Given the description of an element on the screen output the (x, y) to click on. 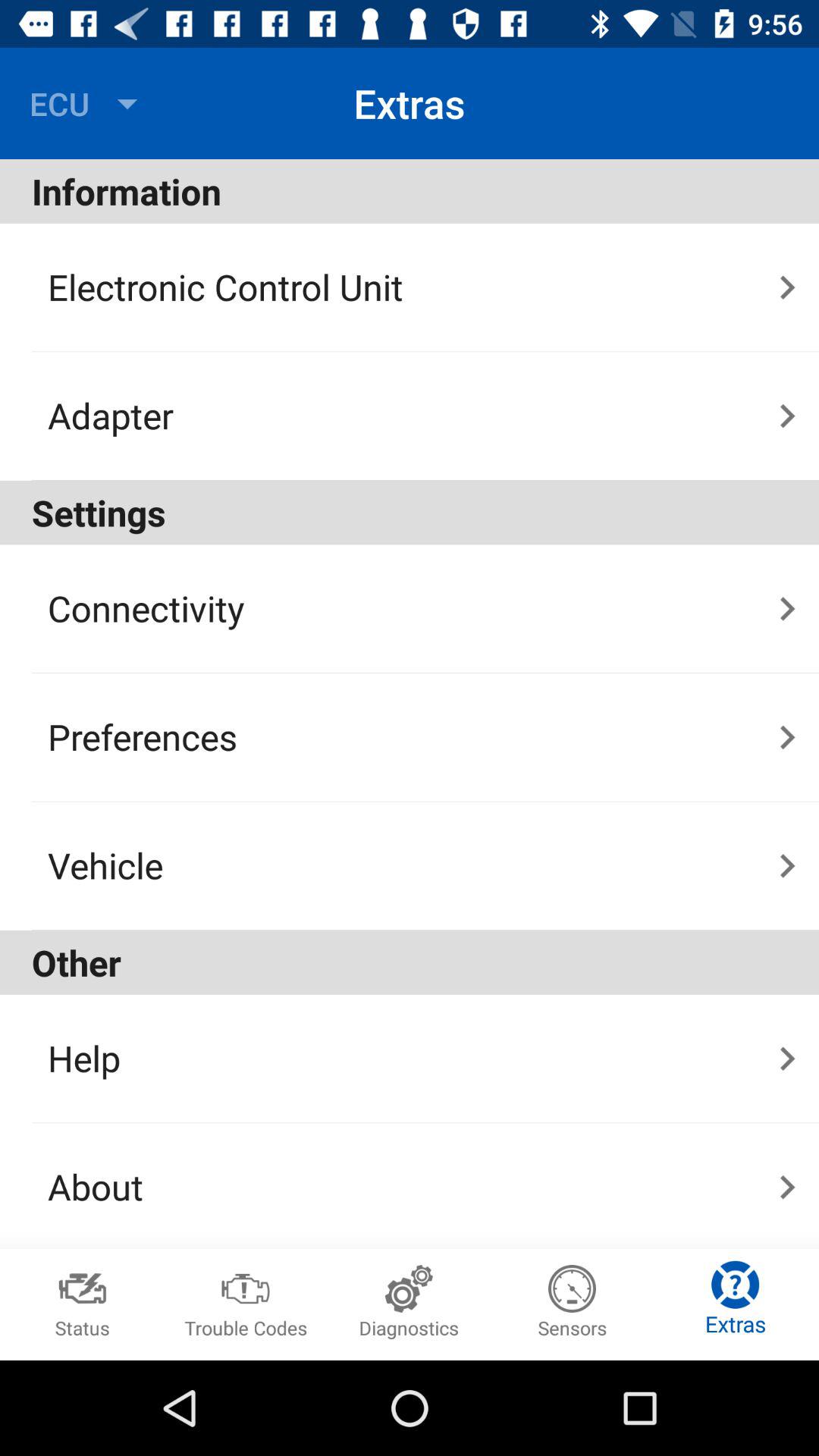
open the icon above information (87, 103)
